Given the description of an element on the screen output the (x, y) to click on. 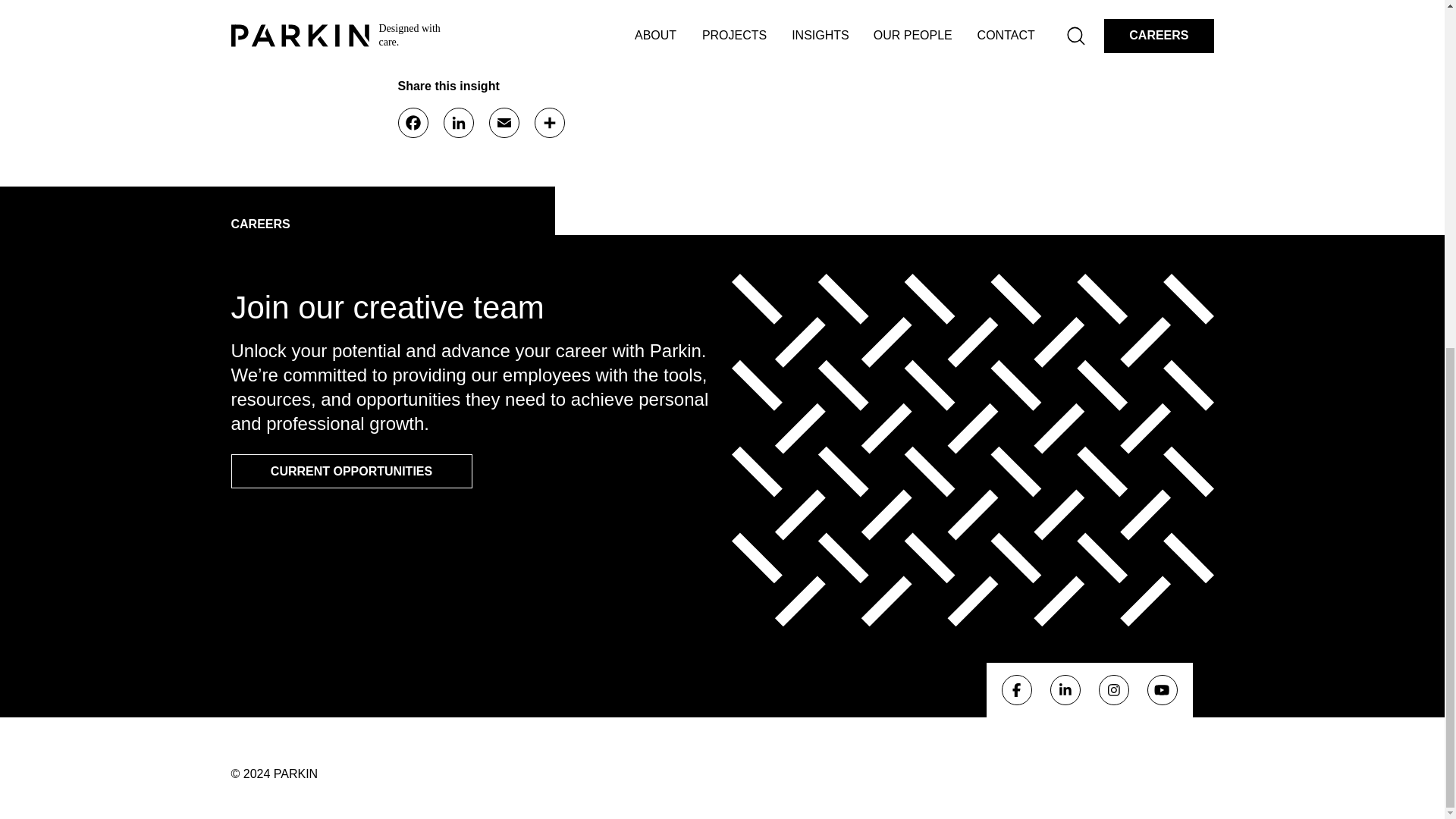
Instagram (1112, 689)
Facebook (1015, 689)
Youtube (1161, 689)
Facebook (412, 122)
Email (502, 122)
Youtube (1161, 689)
CURRENT OPPORTUNITIES (350, 471)
Facebook (412, 122)
Email (502, 122)
LinkedIn (457, 122)
